Given the description of an element on the screen output the (x, y) to click on. 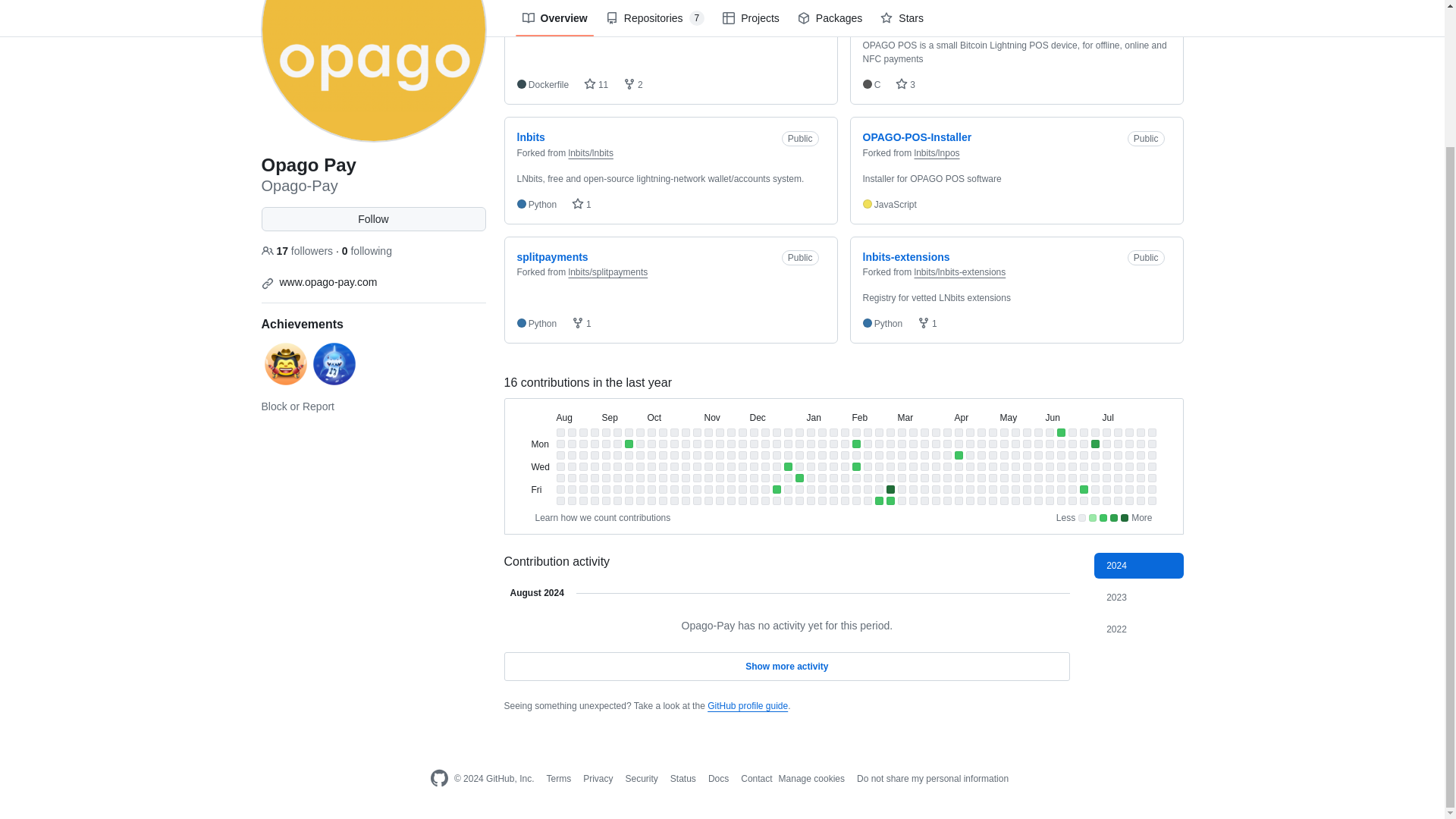
GitHub (438, 778)
